Given the description of an element on the screen output the (x, y) to click on. 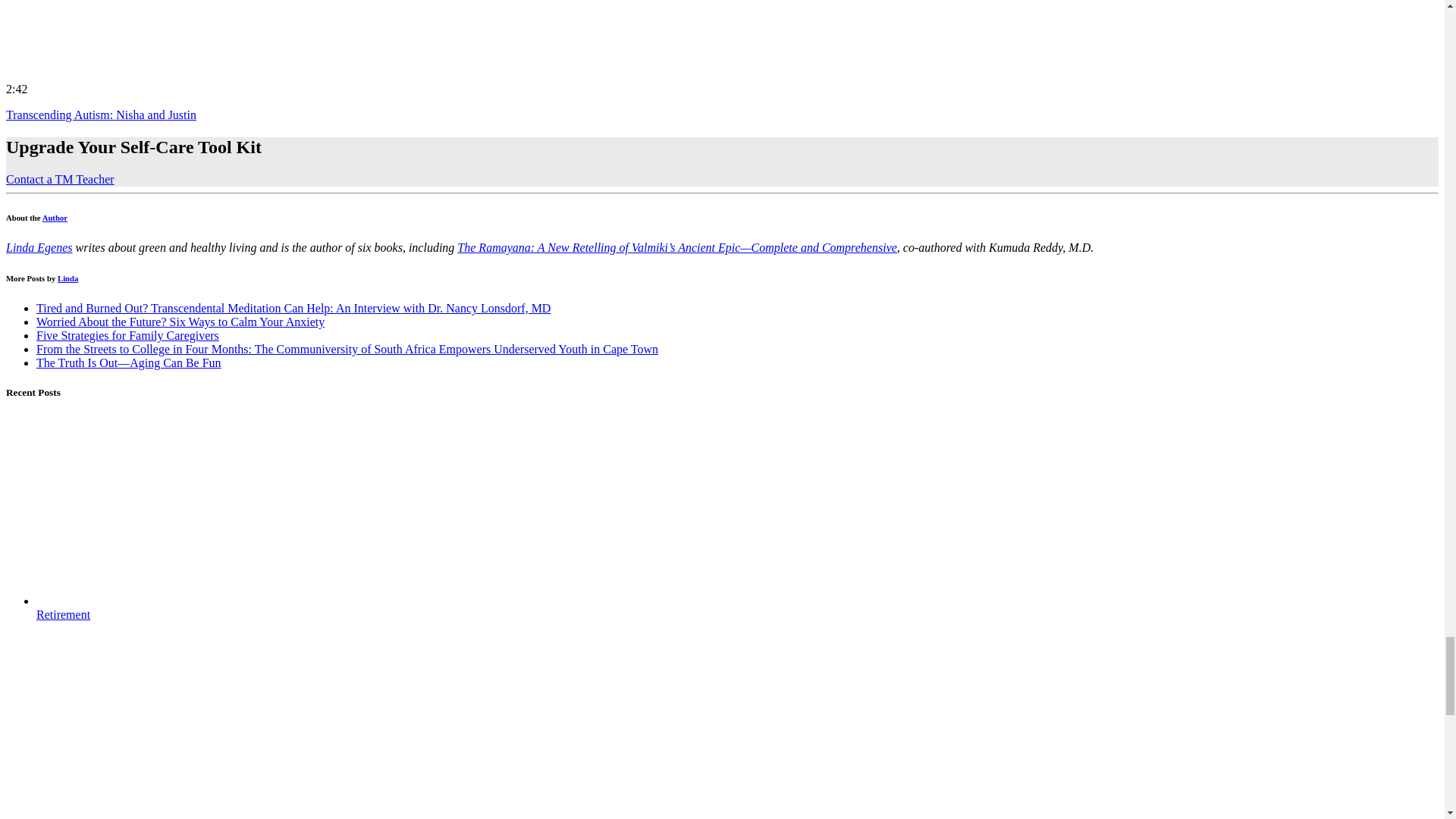
Transcending Autism: Nisha and Justin (100, 114)
